Given the description of an element on the screen output the (x, y) to click on. 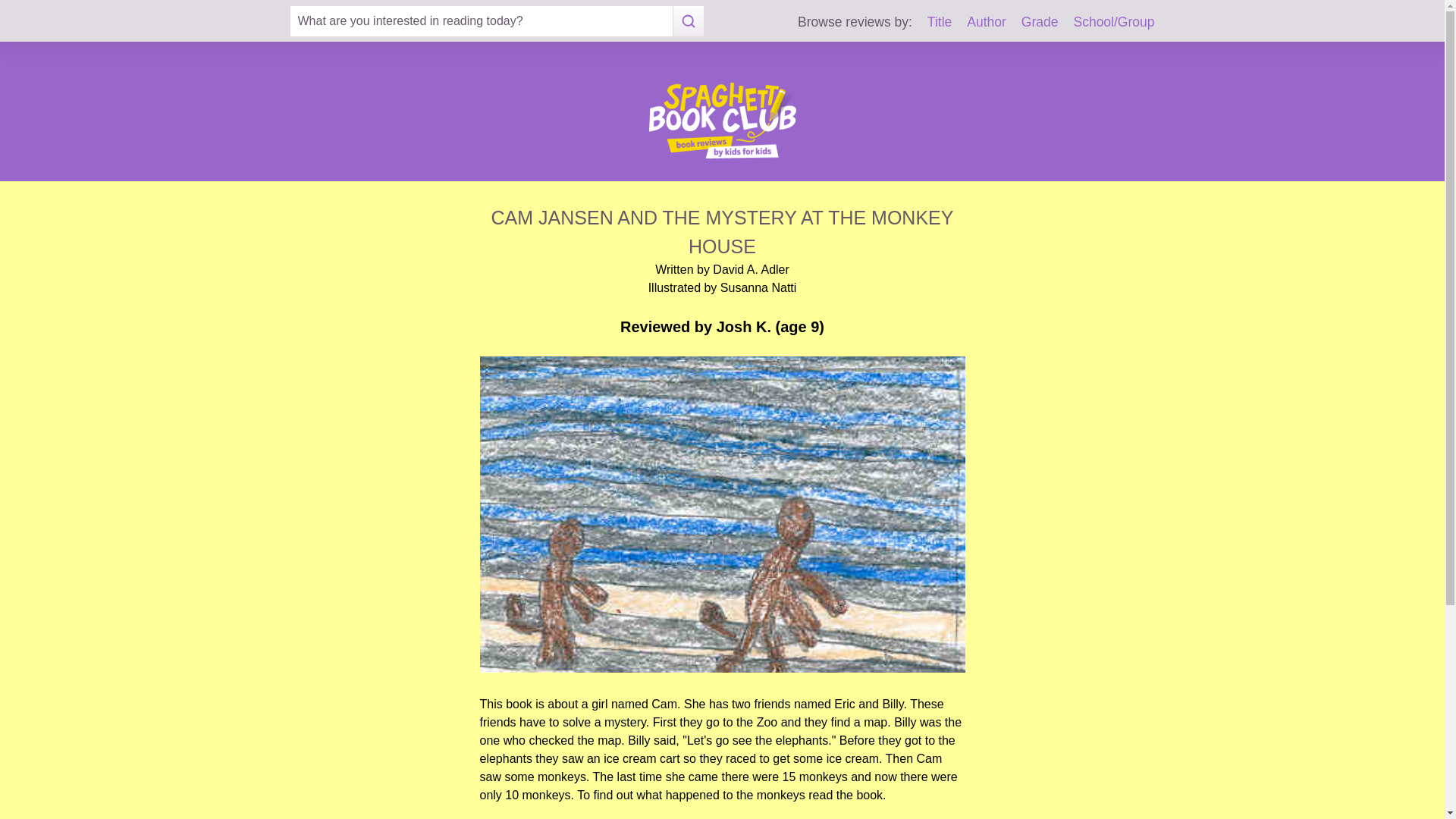
Author (986, 21)
Grade (1040, 21)
Title (939, 21)
